Given the description of an element on the screen output the (x, y) to click on. 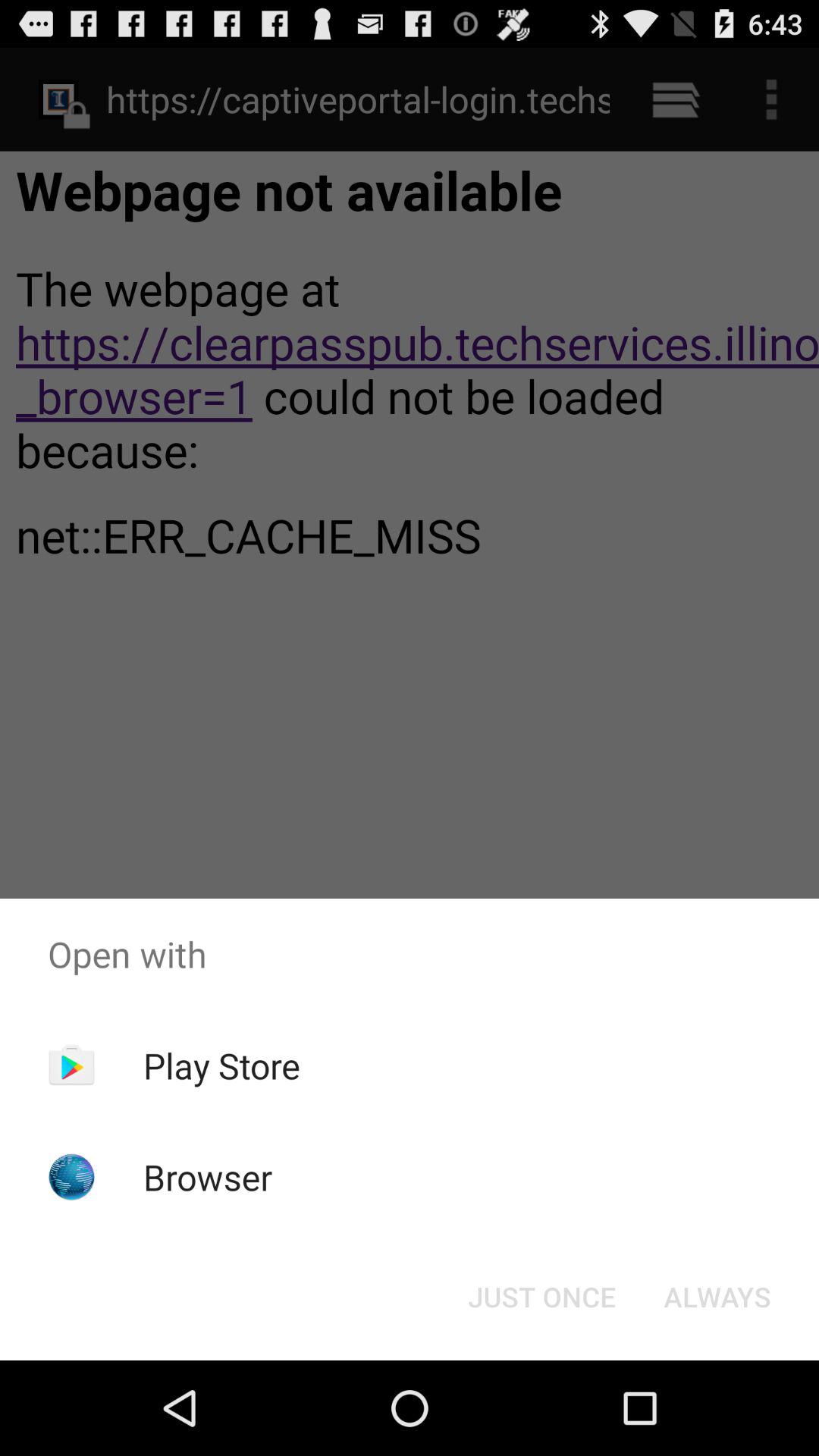
choose the icon below open with item (221, 1065)
